Given the description of an element on the screen output the (x, y) to click on. 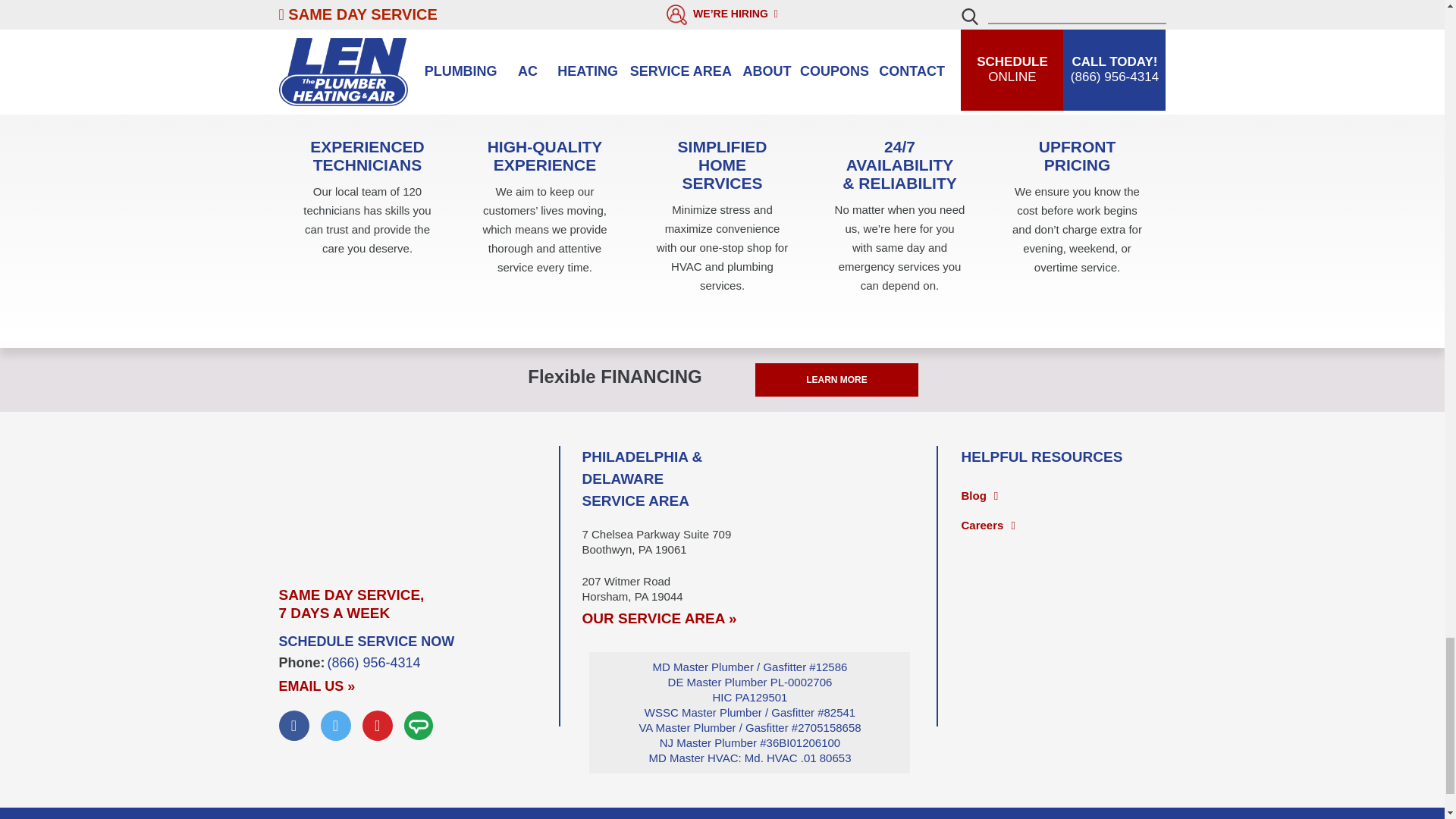
Len The Plumber (419, 502)
Chat (418, 725)
Youtube (377, 725)
Facebook (293, 725)
Phone Number (373, 662)
Twitter (335, 725)
Email us (317, 685)
